Given the description of an element on the screen output the (x, y) to click on. 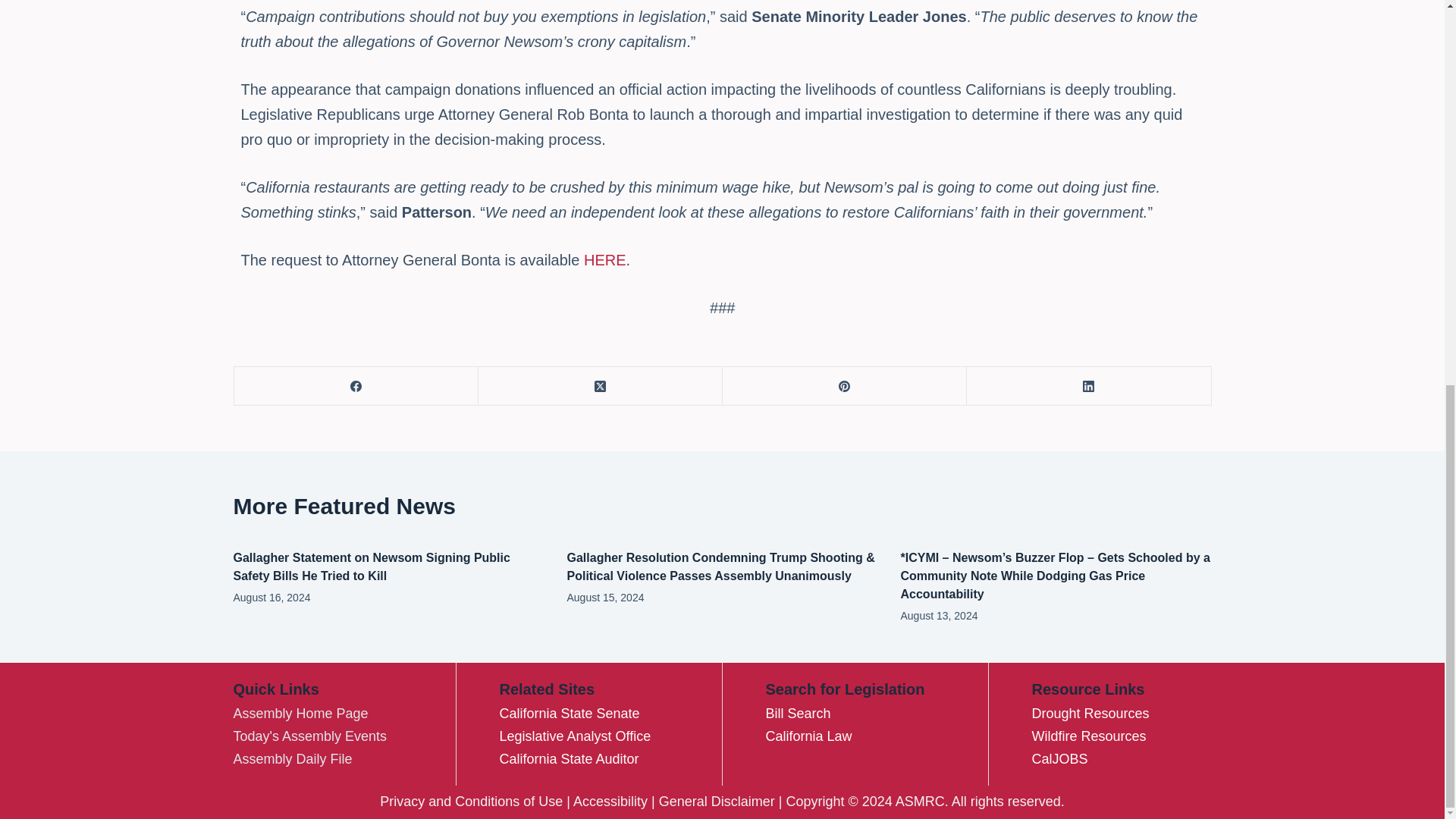
California State Senate (569, 713)
California State Auditor (569, 758)
Assembly Daily File (292, 758)
Today's Assembly Events (309, 735)
Legislative Analyst Office (574, 735)
Assembly Home Page (300, 713)
HERE (604, 259)
